Given the description of an element on the screen output the (x, y) to click on. 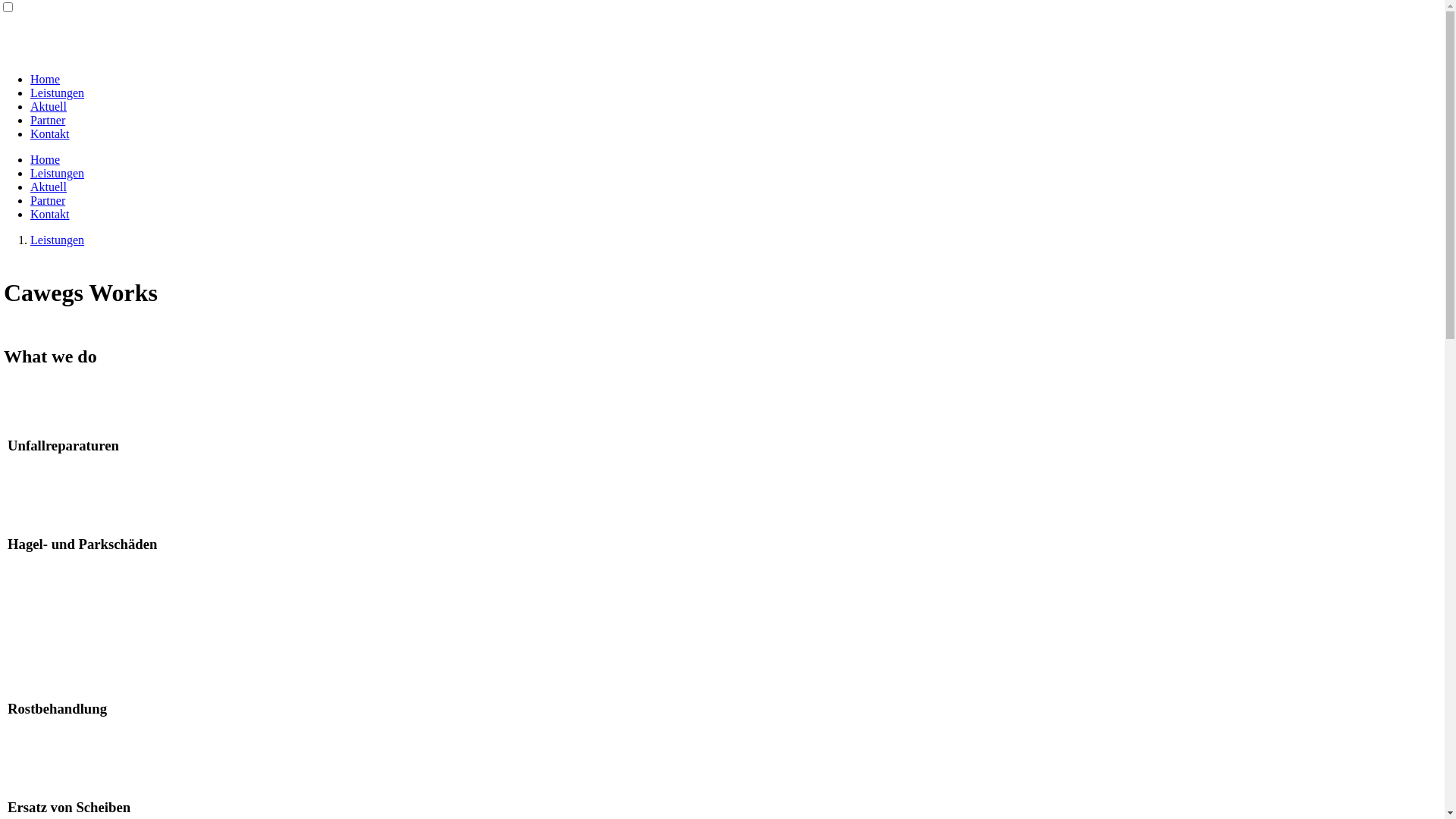
Partner Element type: text (47, 119)
Kontakt Element type: text (49, 213)
Leistungen Element type: text (57, 172)
Kontakt Element type: text (49, 133)
Leistungen Element type: text (57, 92)
Partner Element type: text (47, 200)
Home Element type: text (44, 159)
Aktuell Element type: text (48, 186)
Aktuell Element type: text (48, 106)
Leistungen Element type: text (57, 239)
Home Element type: text (44, 78)
